Given the description of an element on the screen output the (x, y) to click on. 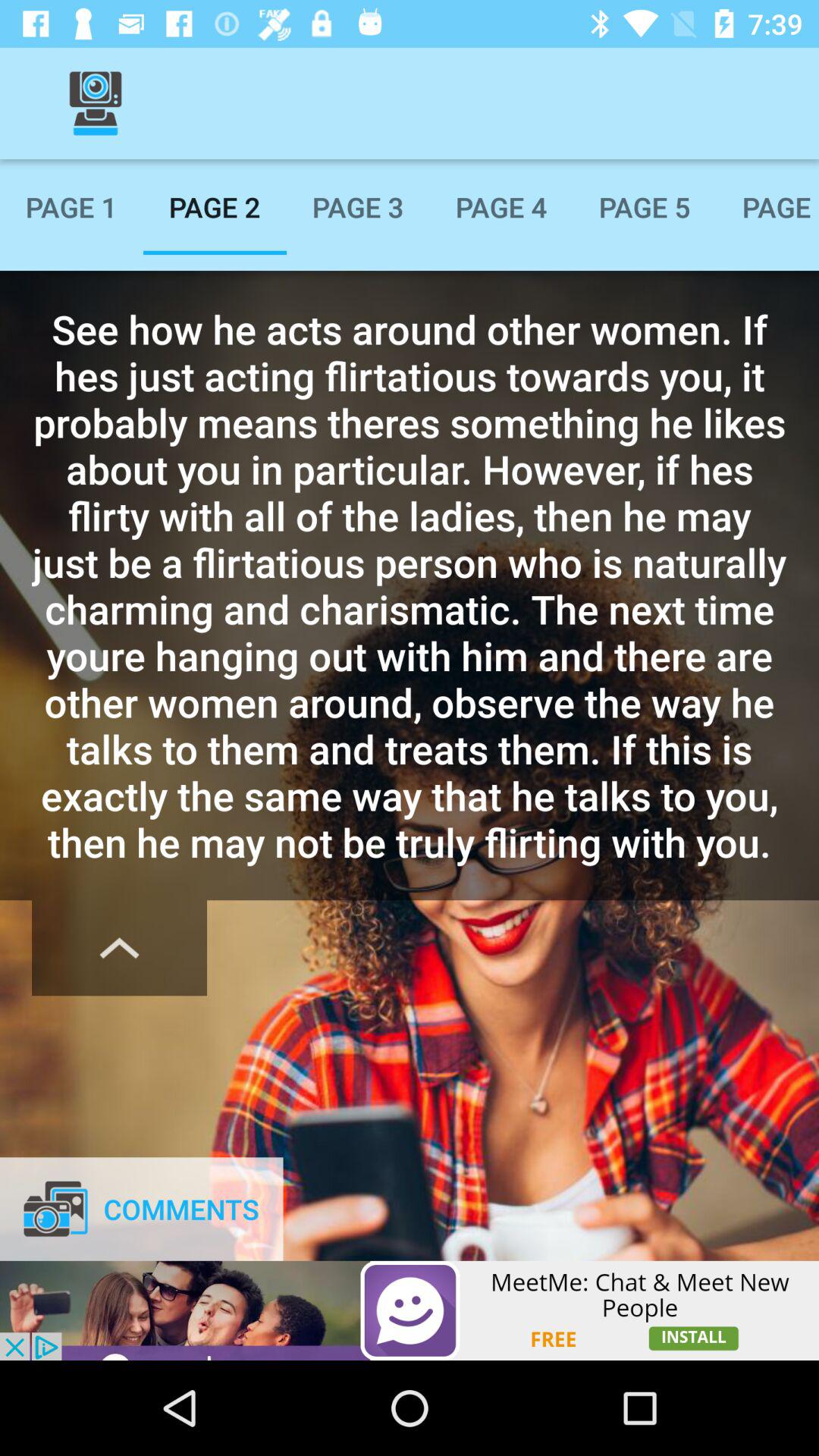
collapse (119, 947)
